Given the description of an element on the screen output the (x, y) to click on. 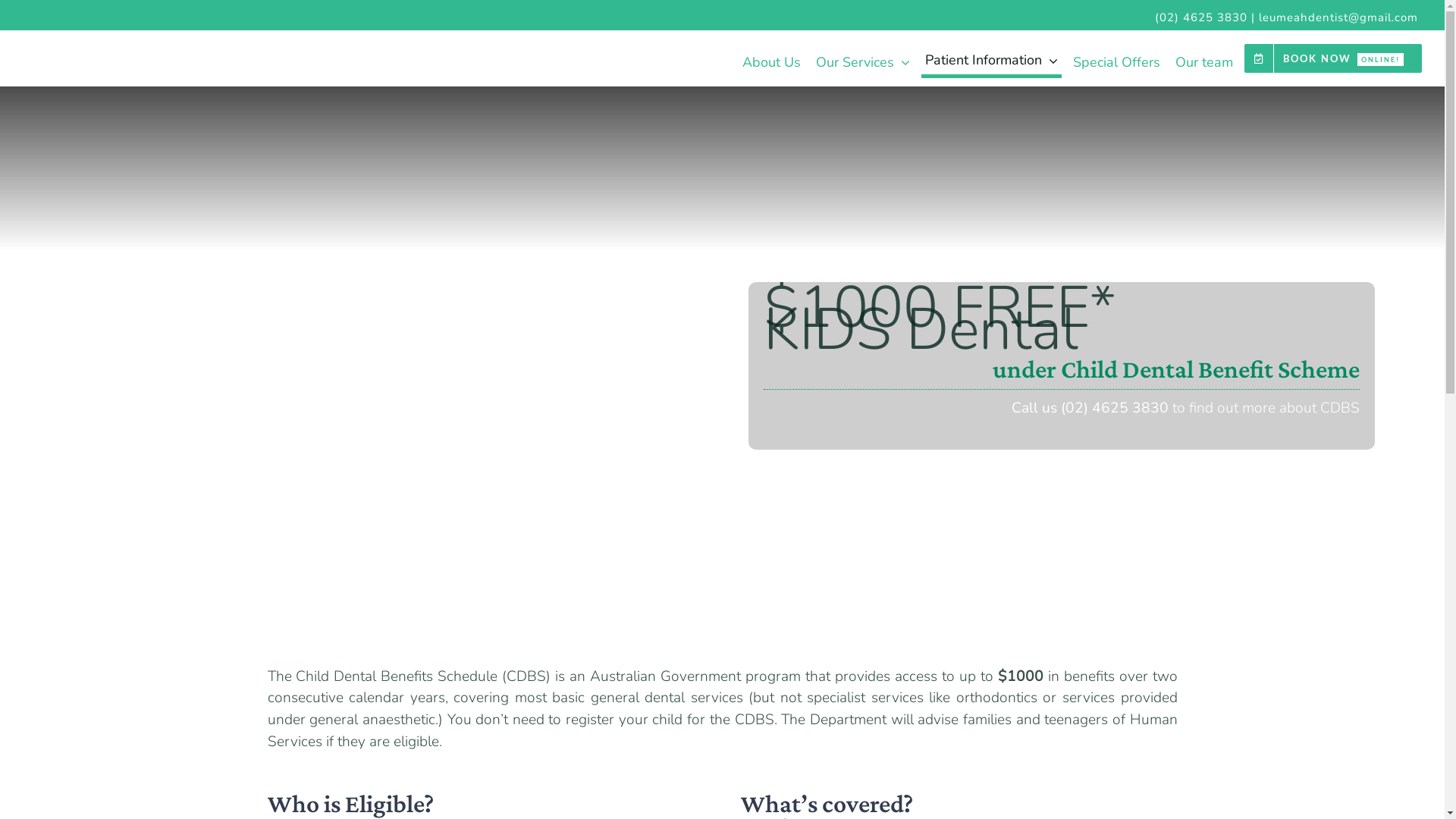
Facebook Element type: hover (1115, 17)
leumeahdentist@gmail.com Element type: text (1338, 17)
Our Services Element type: text (862, 58)
About Us Element type: text (771, 58)
Patient Information Element type: text (991, 58)
BOOK NOWONLINE! Element type: text (1332, 57)
  Element type: text (1133, 17)
  Element type: text (1115, 17)
Our team Element type: text (1203, 58)
Special Offers Element type: text (1116, 58)
Instagram Element type: hover (1133, 17)
